Given the description of an element on the screen output the (x, y) to click on. 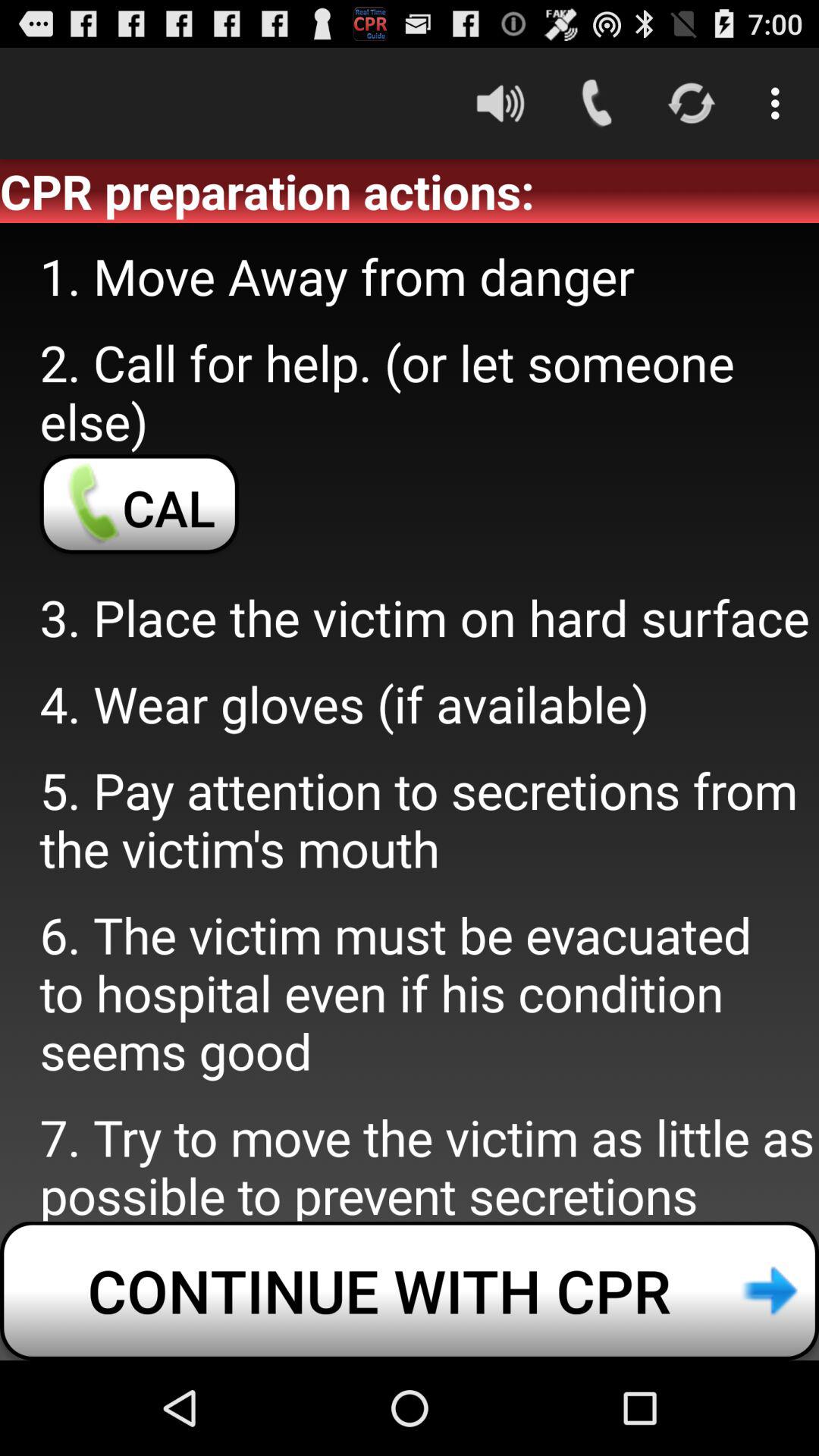
turn off the continue with cpr (409, 1290)
